Given the description of an element on the screen output the (x, y) to click on. 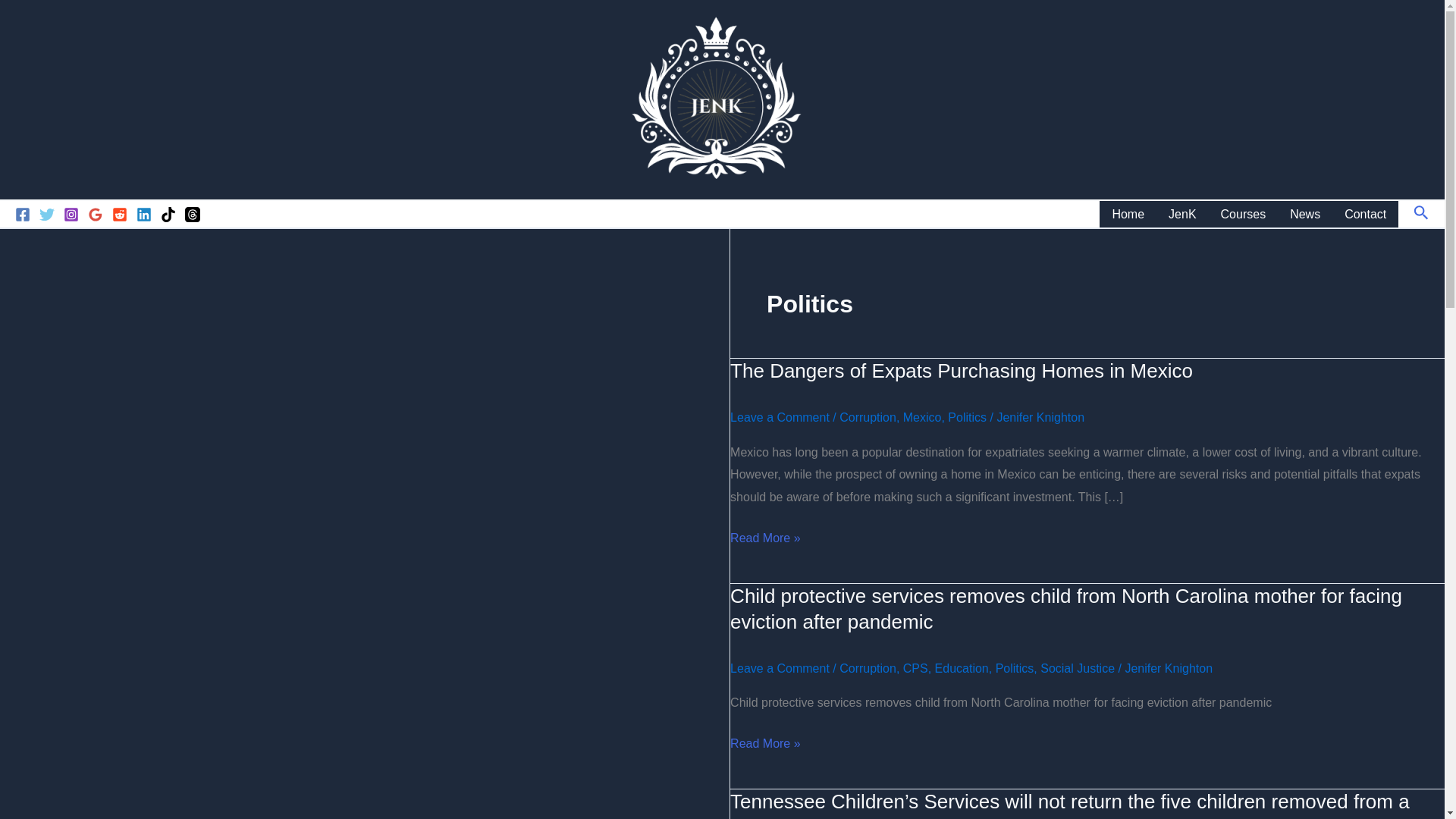
Contact (1364, 213)
JenK (1182, 213)
News (1305, 213)
Politics (967, 417)
Jenifer Knighton (1039, 417)
Corruption (868, 417)
The Dangers of Expats Purchasing Homes in Mexico (961, 370)
Home (1127, 213)
View all posts by Jenifer Knighton (1168, 667)
Leave a Comment (779, 417)
Mexico (922, 417)
View all posts by Jenifer Knighton (1039, 417)
Courses (1243, 213)
